Given the description of an element on the screen output the (x, y) to click on. 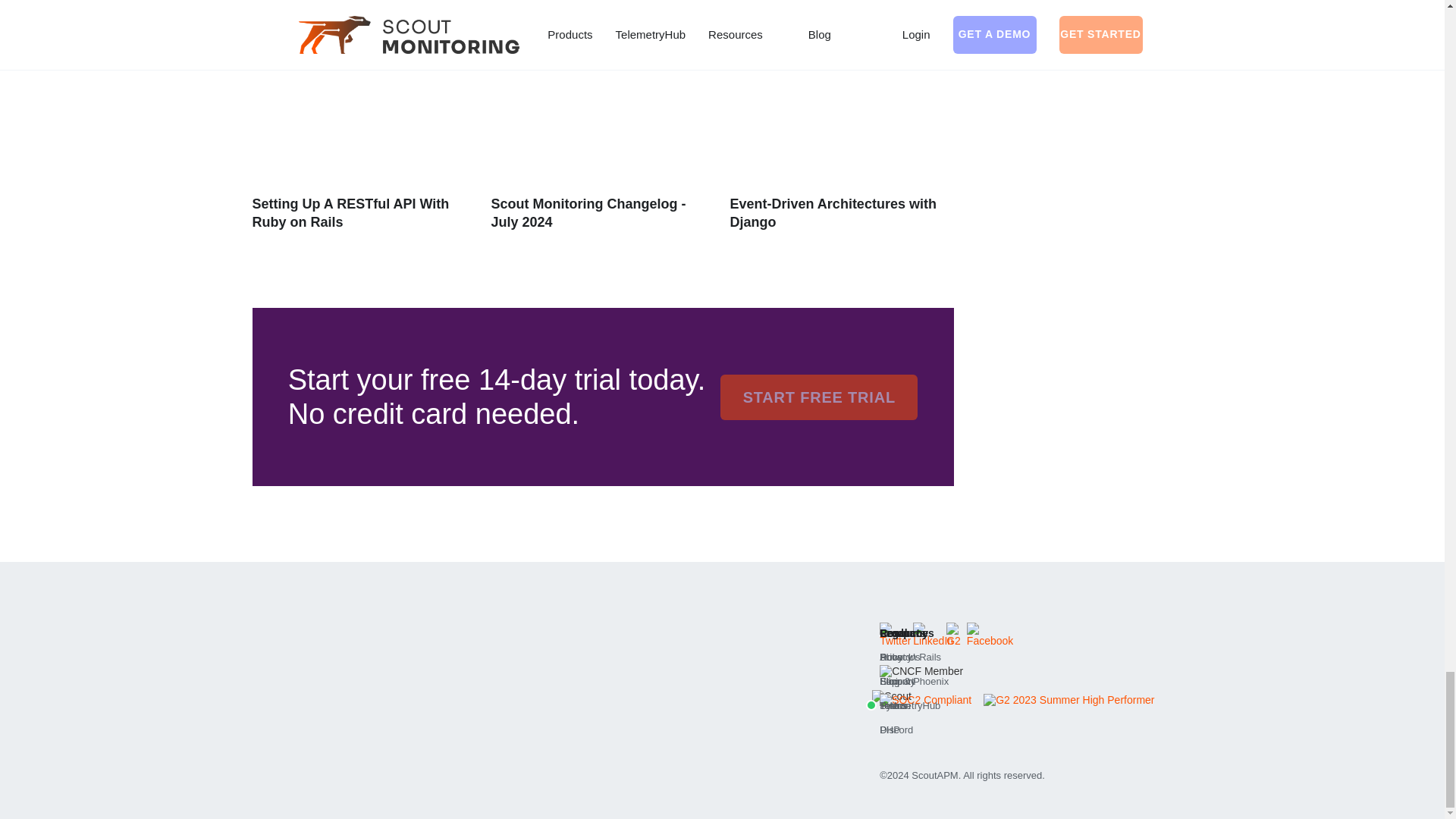
Event-Driven Architectures with Django (832, 213)
Scout Monitoring Changelog - July 2024 (588, 213)
Setting Up A RESTful API With Ruby on Rails (349, 213)
